Given the description of an element on the screen output the (x, y) to click on. 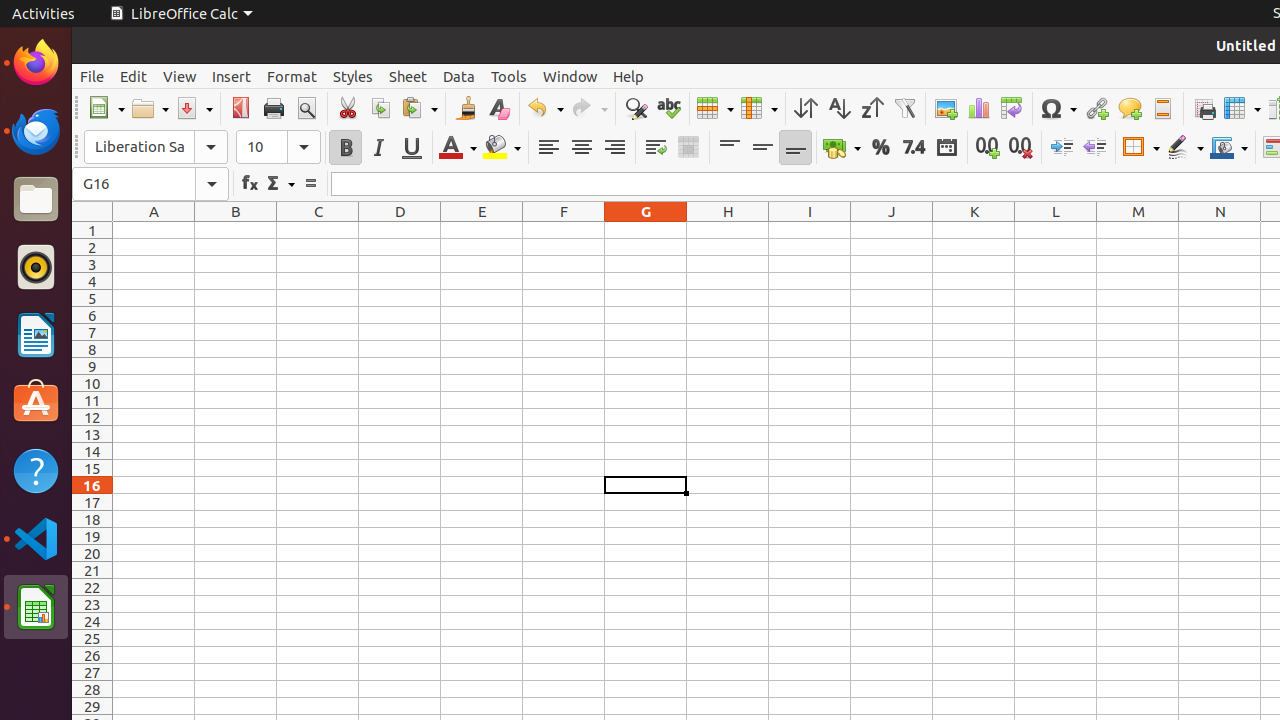
Wrap Text Element type: push-button (655, 147)
K1 Element type: table-cell (974, 230)
A1 Element type: table-cell (154, 230)
C1 Element type: table-cell (318, 230)
